Given the description of an element on the screen output the (x, y) to click on. 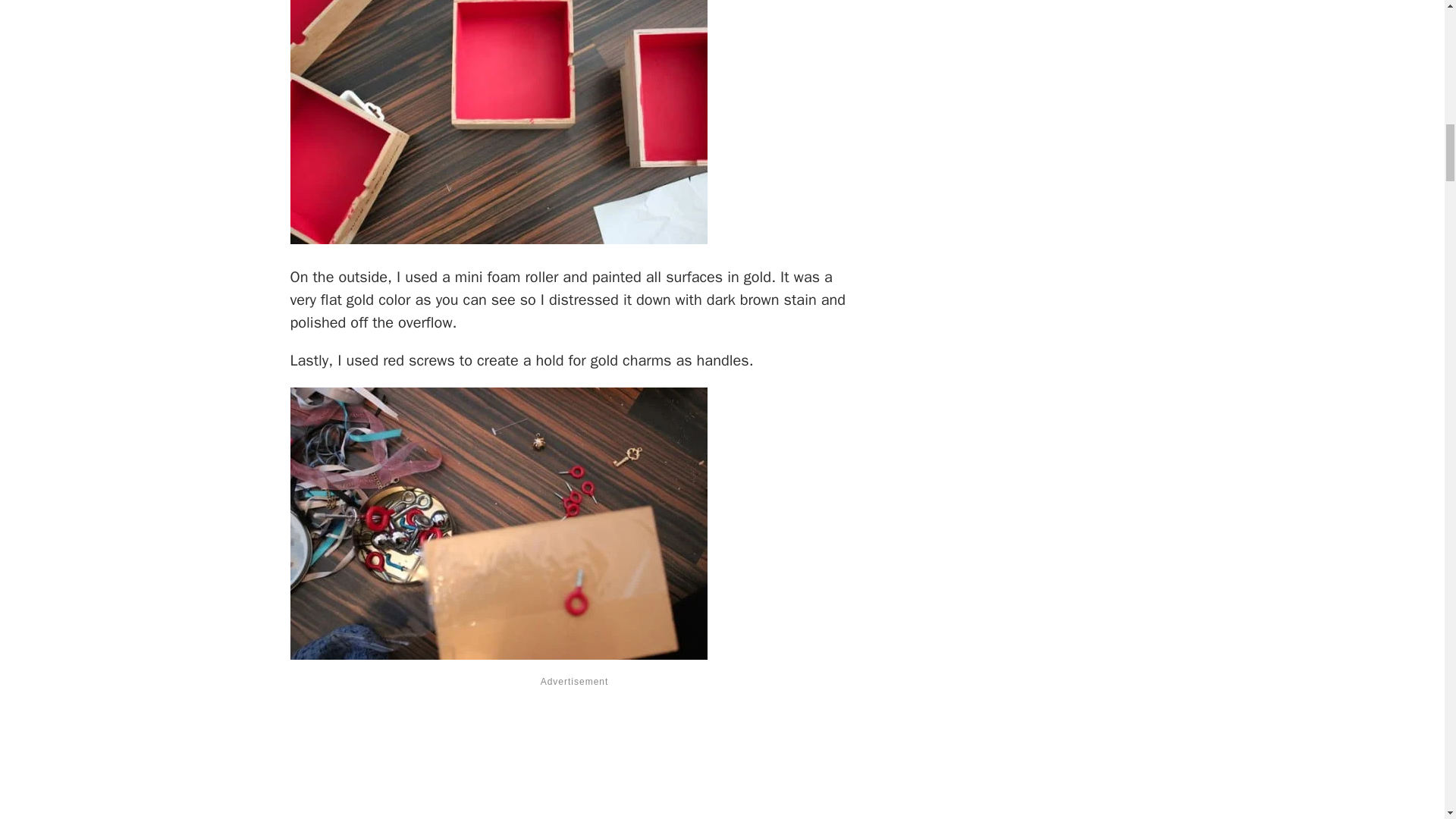
Pimpin' the MOPPE drawers 3 (497, 523)
Pimpin' the MOPPE drawers 2 (497, 239)
Pimpin' the MOPPE drawers 3 (497, 654)
Pimpin' the MOPPE drawers 2 (497, 122)
